Given the description of an element on the screen output the (x, y) to click on. 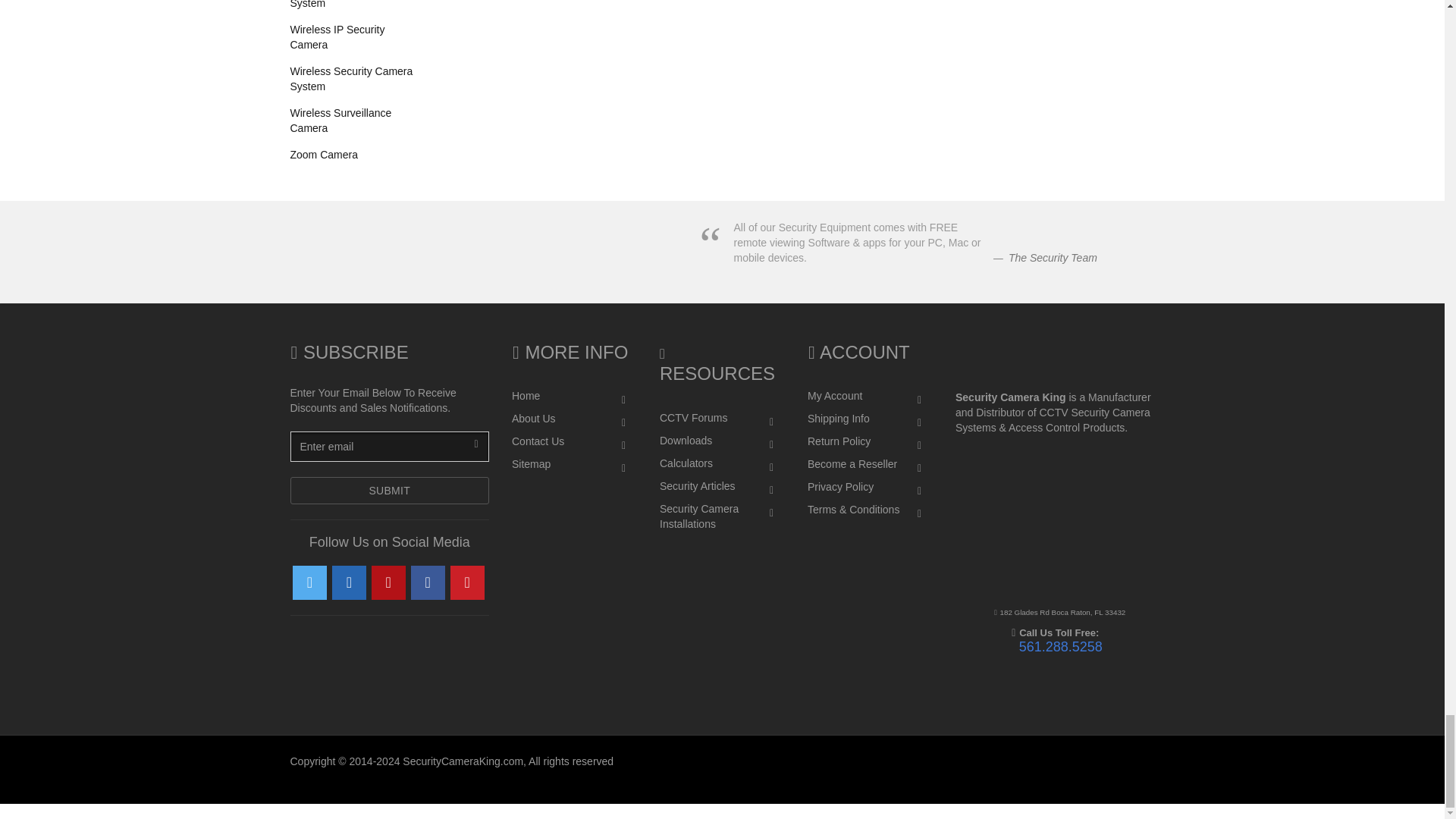
How PayPal Works (666, 689)
SecurityCameraKing.com is Fully Paypal Verified (758, 689)
Submit (389, 490)
Source Title (1053, 257)
